Given the description of an element on the screen output the (x, y) to click on. 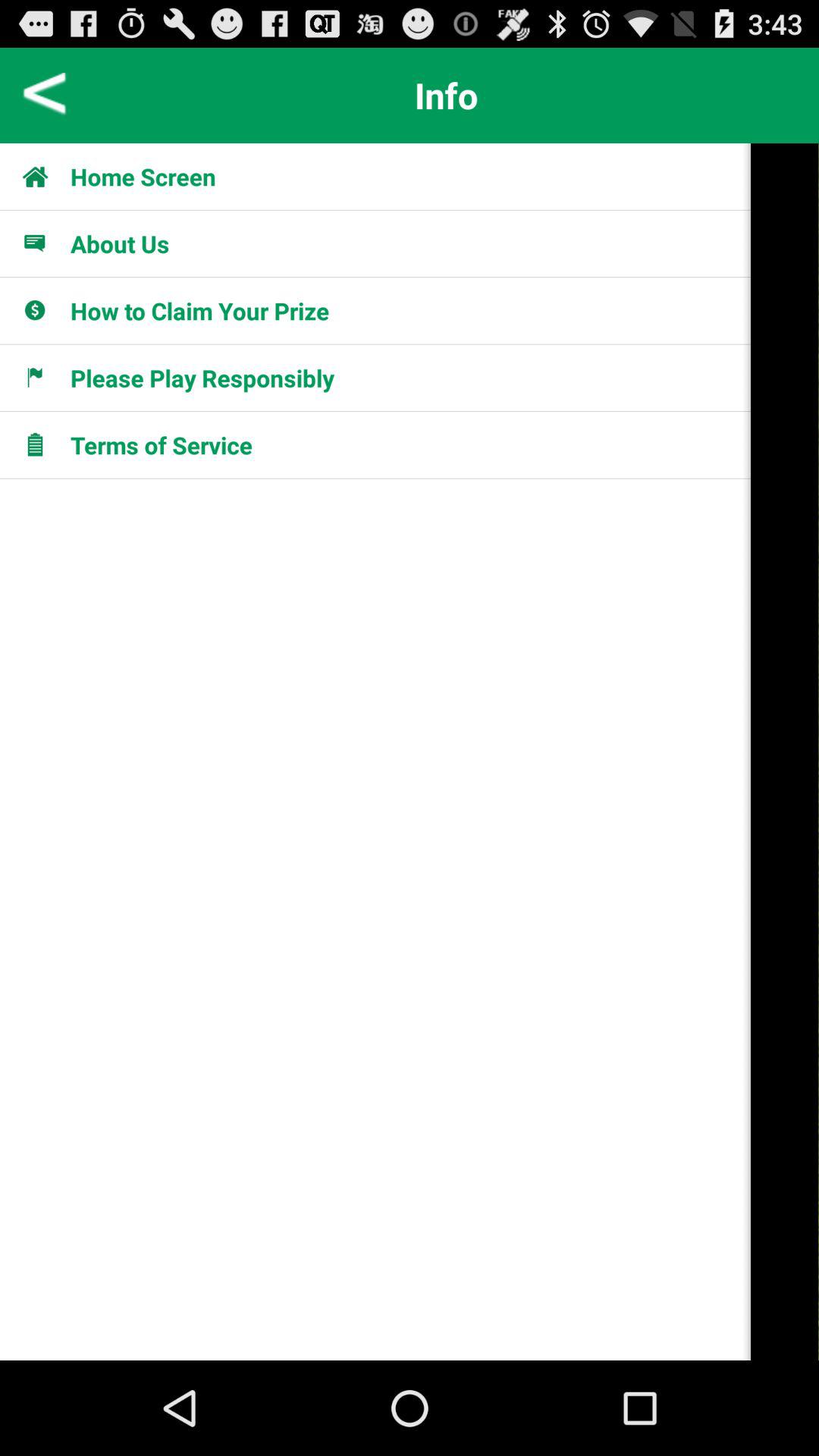
open item to the left of the info icon (44, 94)
